Given the description of an element on the screen output the (x, y) to click on. 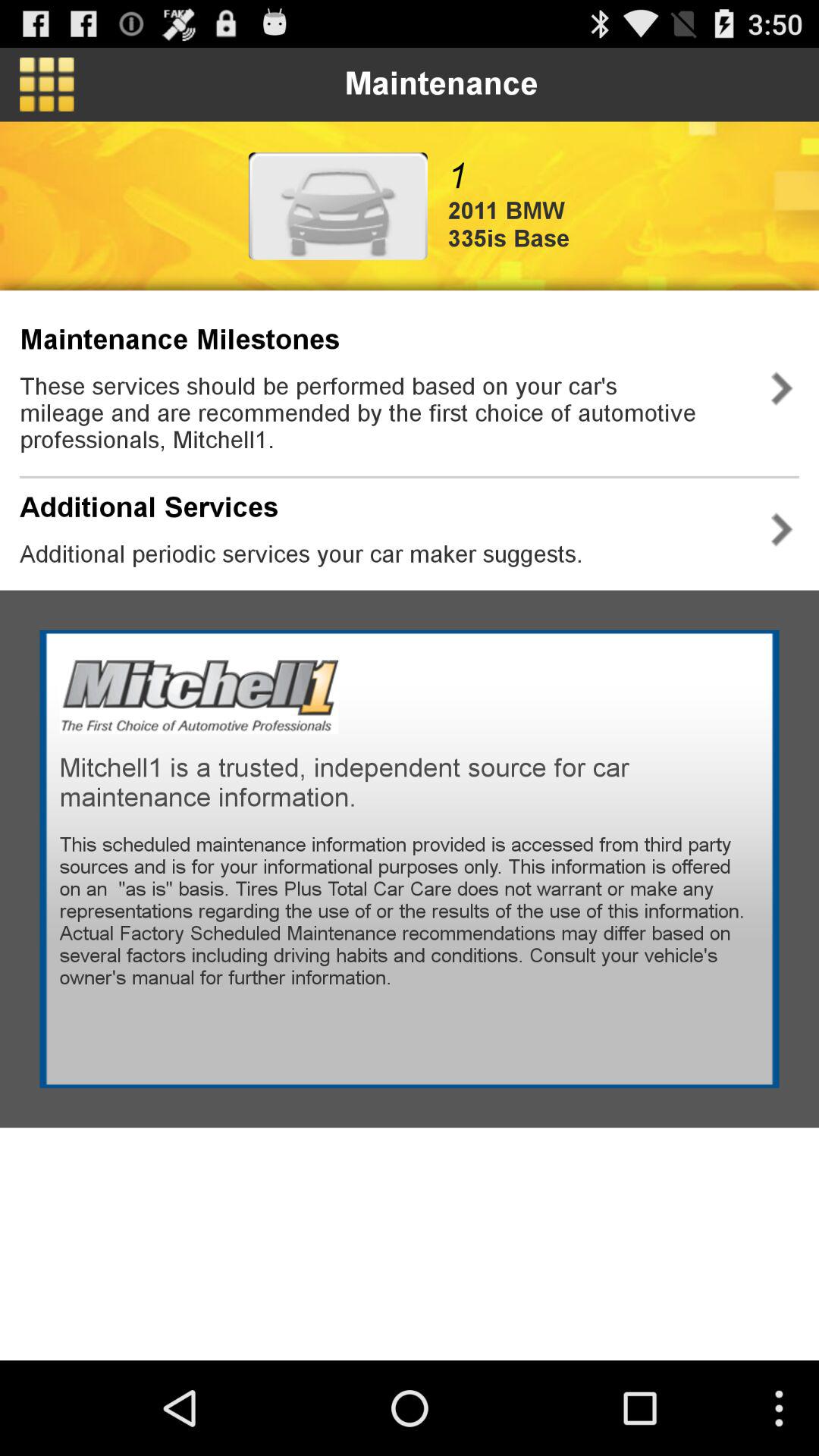
enlarge photo (337, 205)
